Given the description of an element on the screen output the (x, y) to click on. 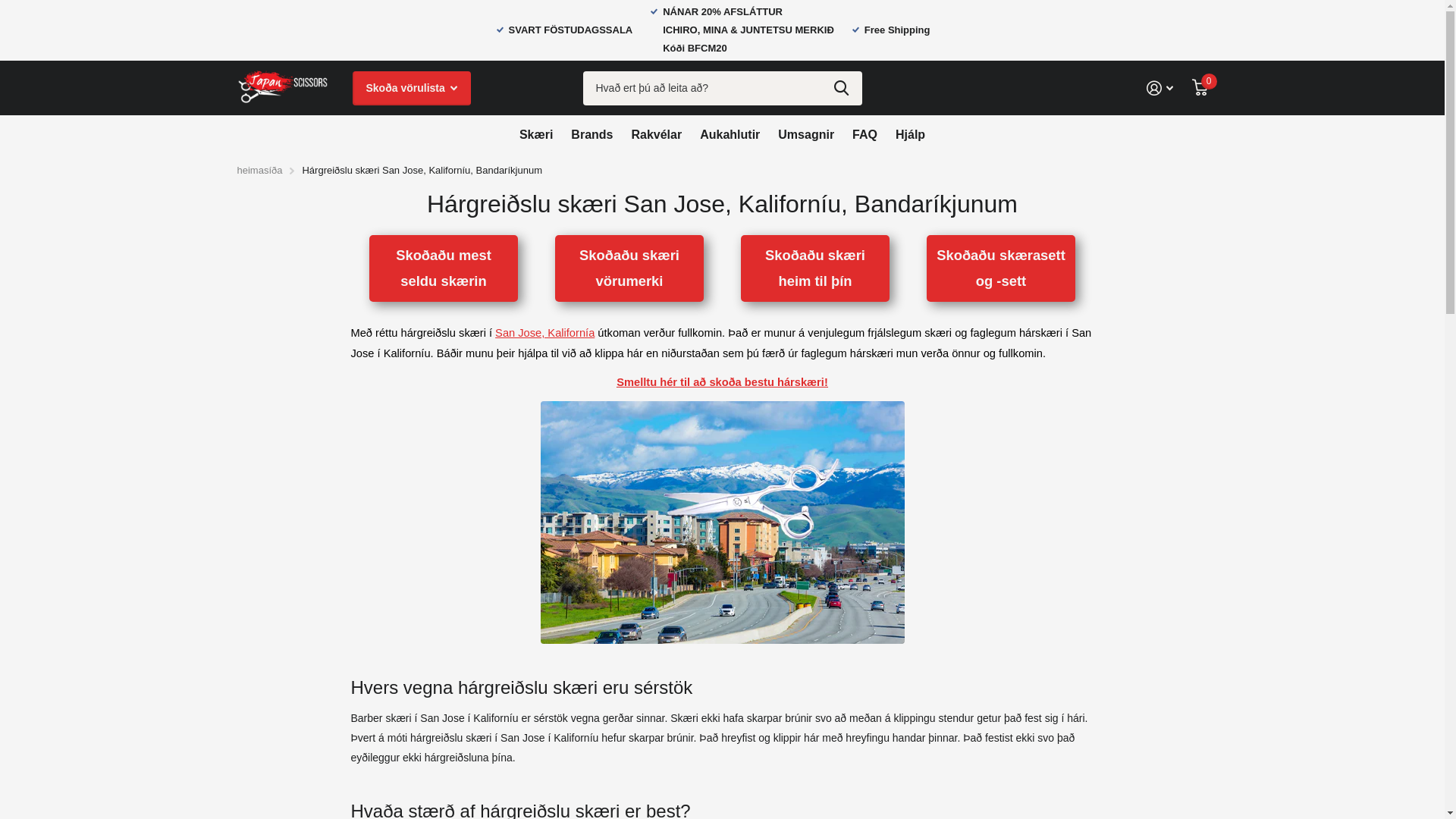
0 Element type: text (1200, 87)
Brands Element type: text (591, 134)
Aukahlutir Element type: text (729, 134)
leita Element type: text (841, 88)
FAQ Element type: text (864, 134)
Umsagnir Element type: text (806, 134)
